Given the description of an element on the screen output the (x, y) to click on. 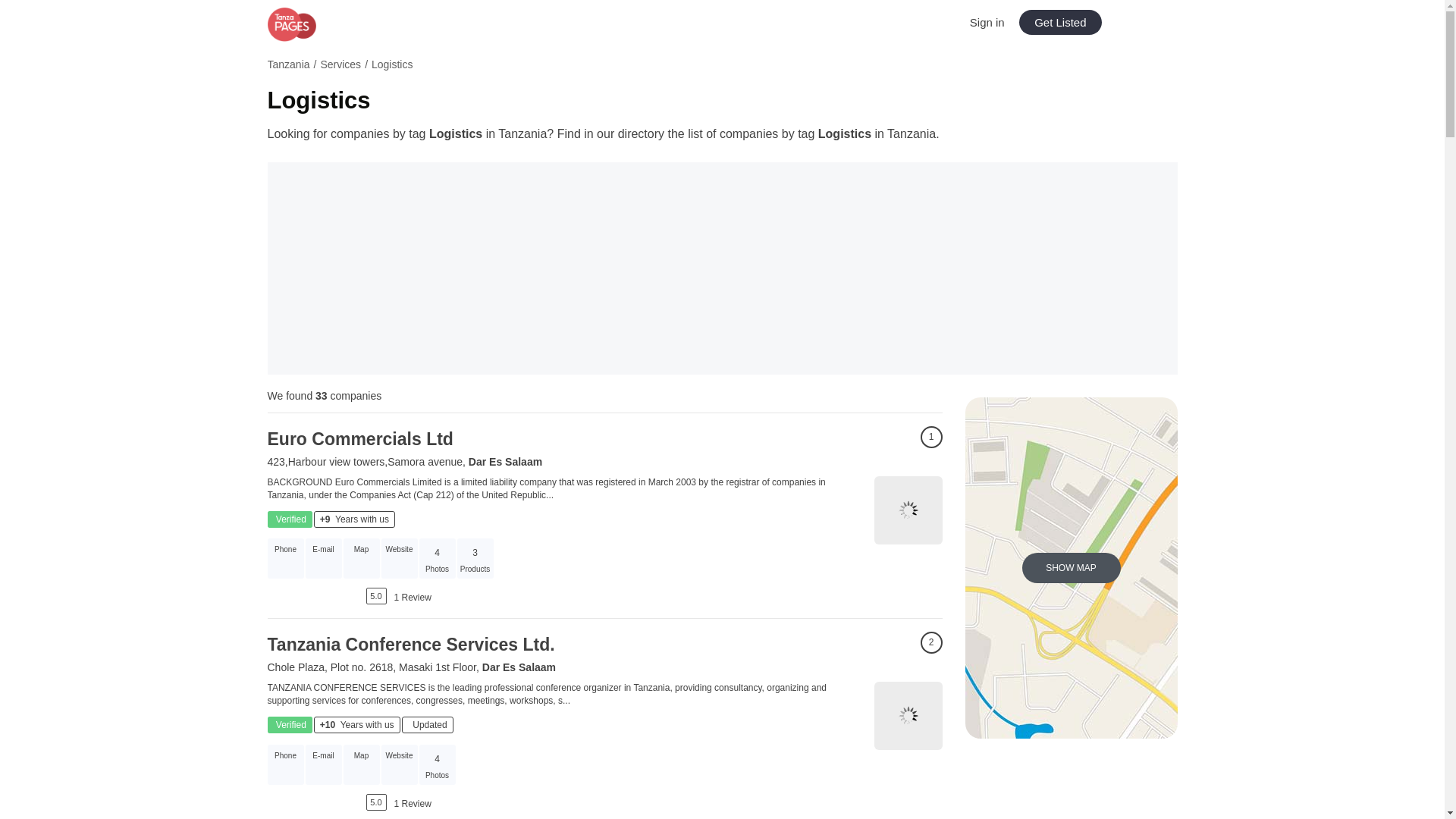
Tanzania (287, 64)
Tanzania Services Logistics (721, 67)
2 (931, 642)
1 Review (412, 597)
Companies in Dar Es Salaam (518, 666)
Companies in Dar Es Salaam (504, 461)
Tanzania Conference Services Ltd. Business Page (907, 715)
Tanzania Business Directory - Tanzania Pages (319, 24)
Tanzania Business Directory - Tanzania Pages (319, 24)
Dar Es Salaam (504, 461)
Dar Es Salaam (518, 666)
Euro Commercials Ltd Business Page (907, 509)
Tanzania Conference Services Ltd. (410, 644)
Get Listed (1059, 22)
